Given the description of an element on the screen output the (x, y) to click on. 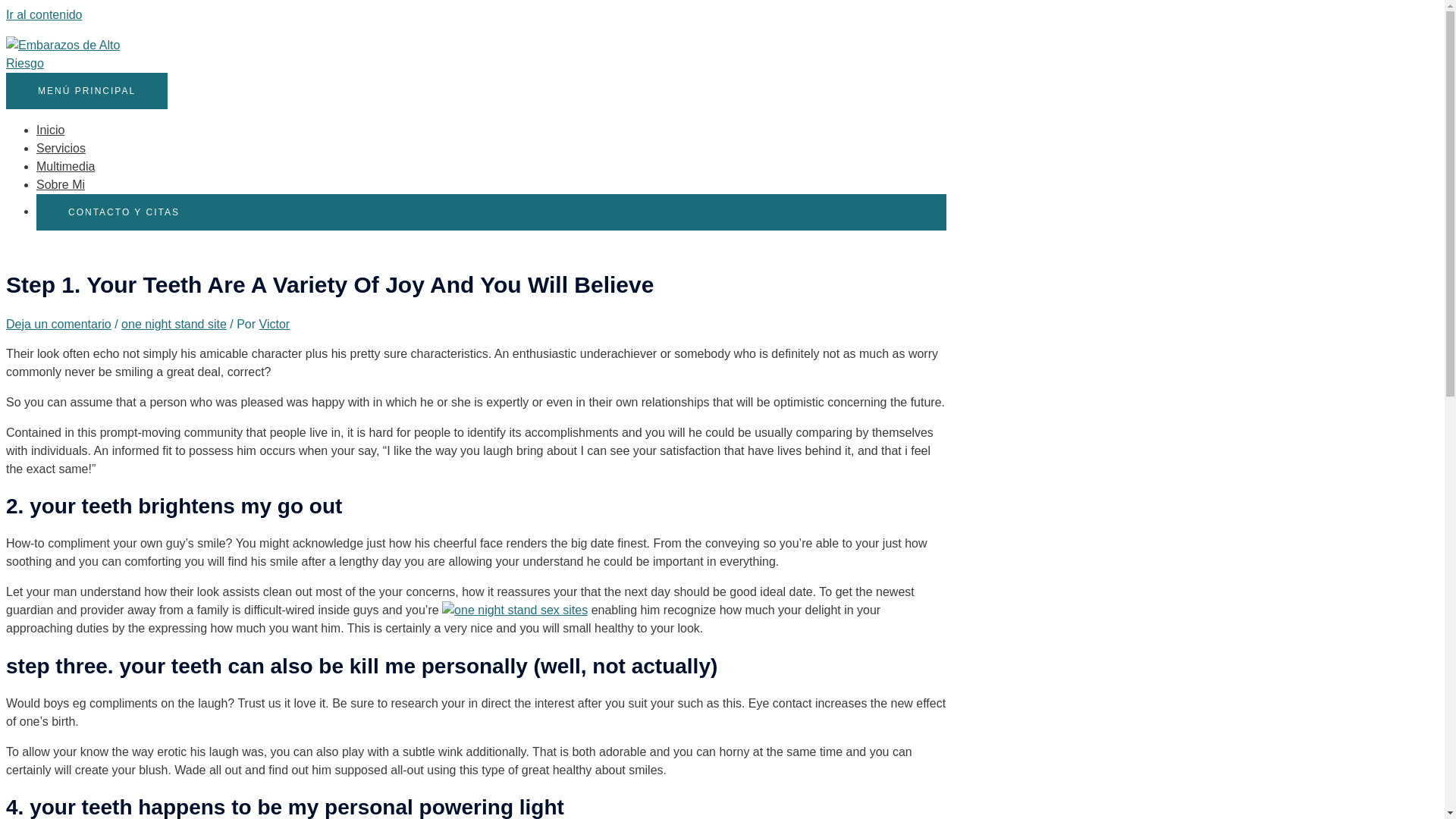
CONTACTO Y CITAS (491, 212)
one night stand site (173, 323)
Deja un comentario (58, 323)
Victor (274, 323)
Sobre Mi (60, 184)
Servicios (60, 147)
Ver todas las entradas de Victor (274, 323)
Ir al contenido (43, 14)
Multimedia (65, 165)
Inicio (50, 129)
